Given the description of an element on the screen output the (x, y) to click on. 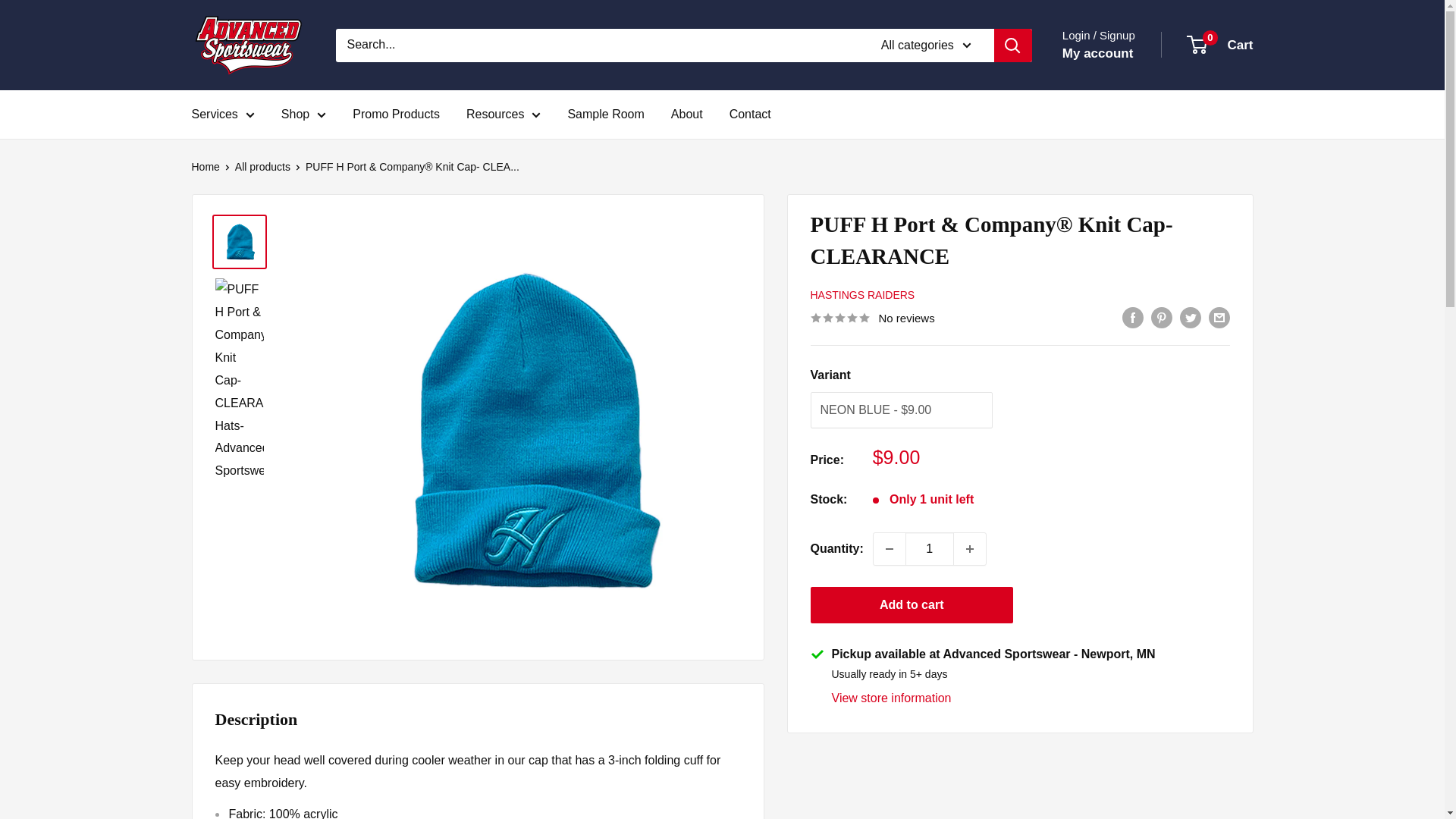
1 (929, 549)
Decrease quantity by 1 (889, 549)
Increase quantity by 1 (969, 549)
